Given the description of an element on the screen output the (x, y) to click on. 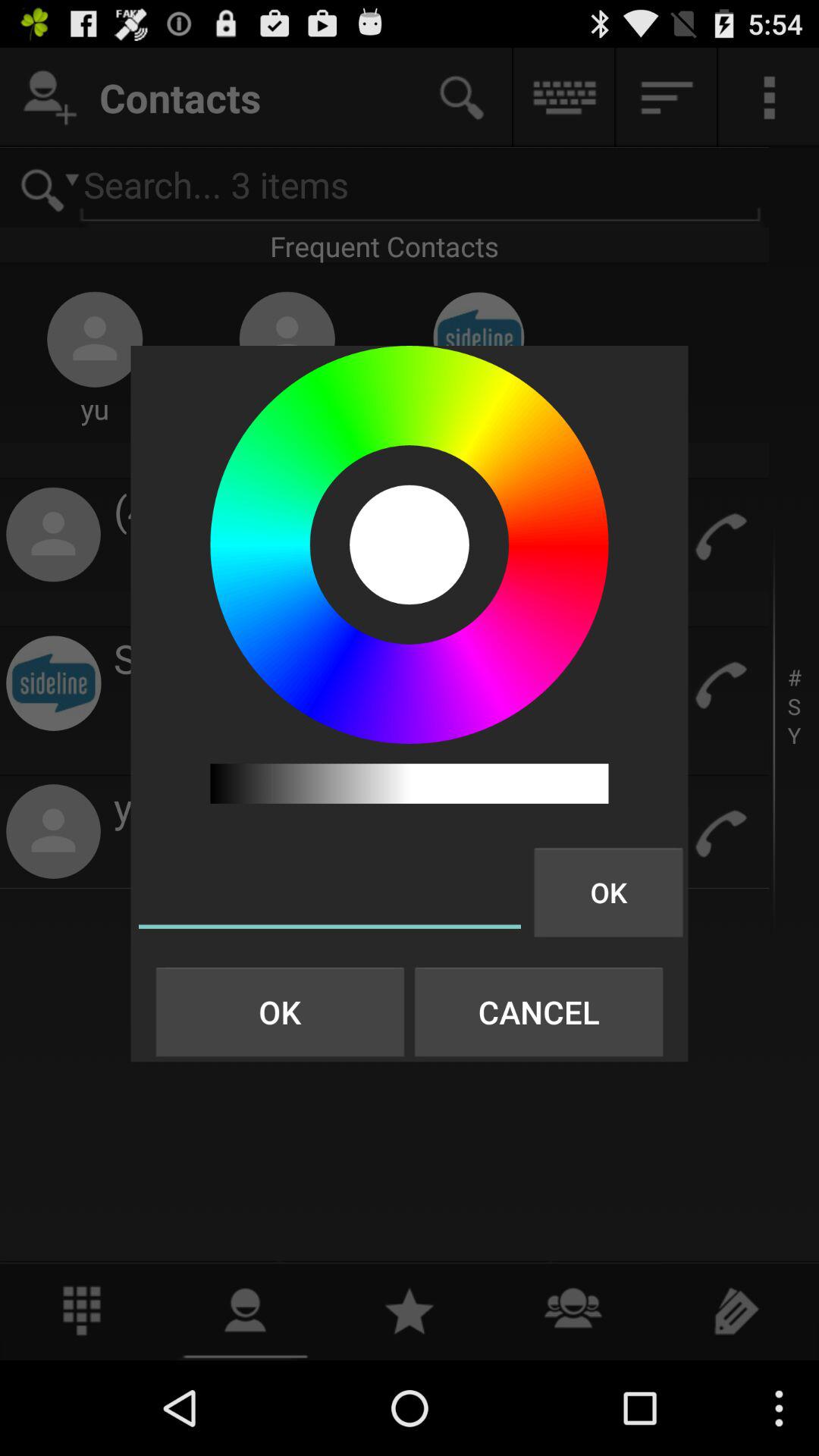
jump until cancel item (538, 1011)
